Given the description of an element on the screen output the (x, y) to click on. 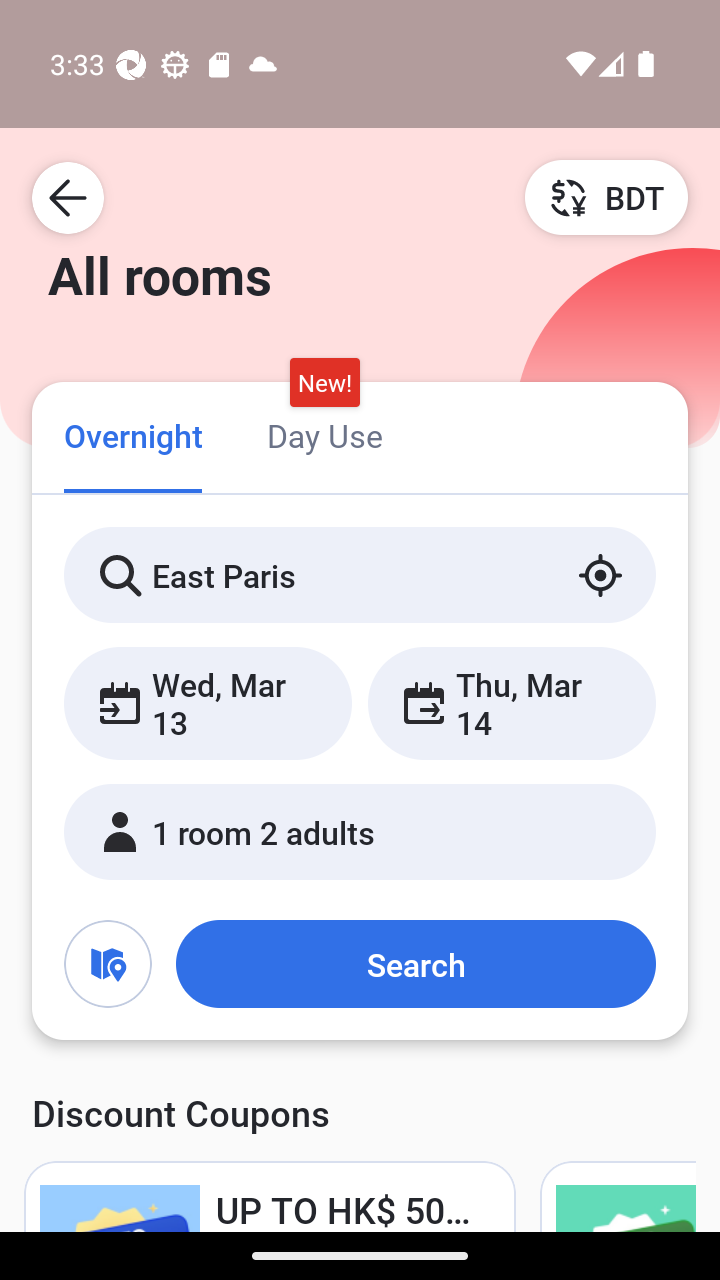
BDT (606, 197)
New! (324, 383)
Day Use (324, 434)
East Paris (359, 575)
Wed, Mar 13 (208, 703)
Thu, Mar 14 (511, 703)
1 room 2 adults (359, 831)
Search (415, 964)
